Given the description of an element on the screen output the (x, y) to click on. 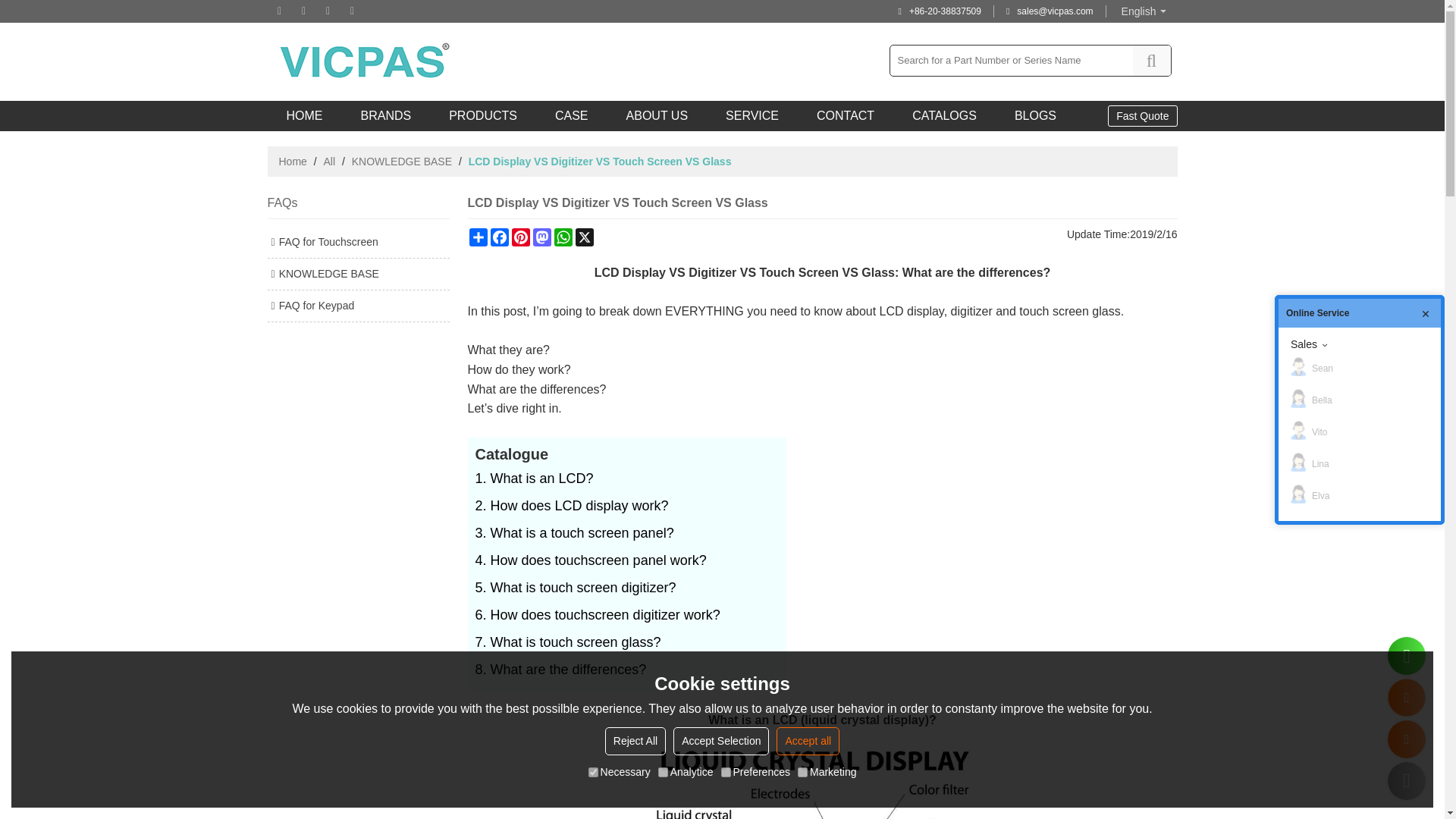
Follow youtube (327, 11)
Brands (384, 115)
Follow facebook (278, 11)
GUANGZHOU VICPAS TOUCH TECHNOLOGY CO.,LTD (365, 60)
HOME (303, 115)
BRANDS (384, 115)
on (593, 772)
on (802, 772)
search (1151, 60)
HOME (303, 115)
